Given the description of an element on the screen output the (x, y) to click on. 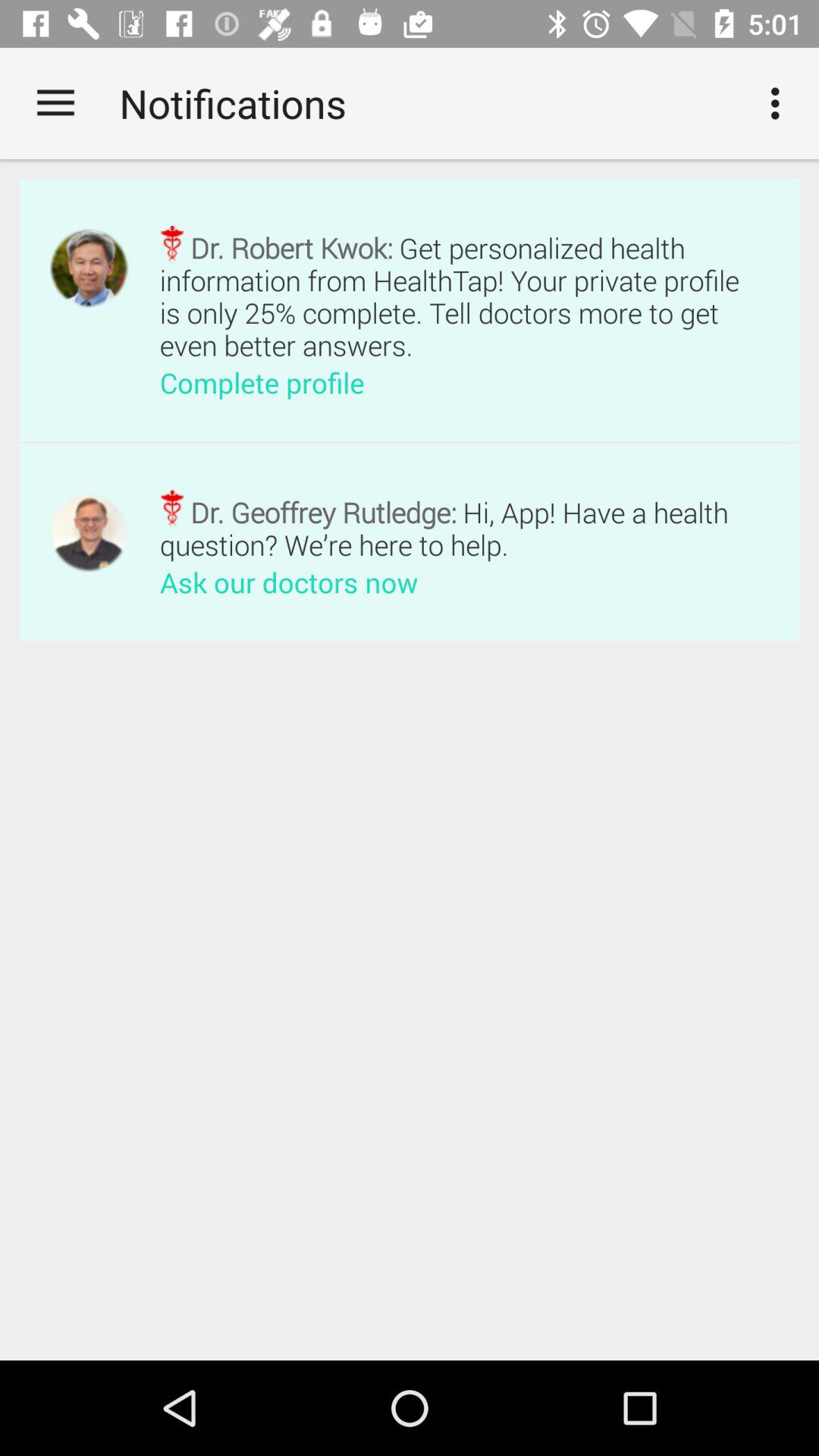
click the icon at the top right corner (779, 103)
